Given the description of an element on the screen output the (x, y) to click on. 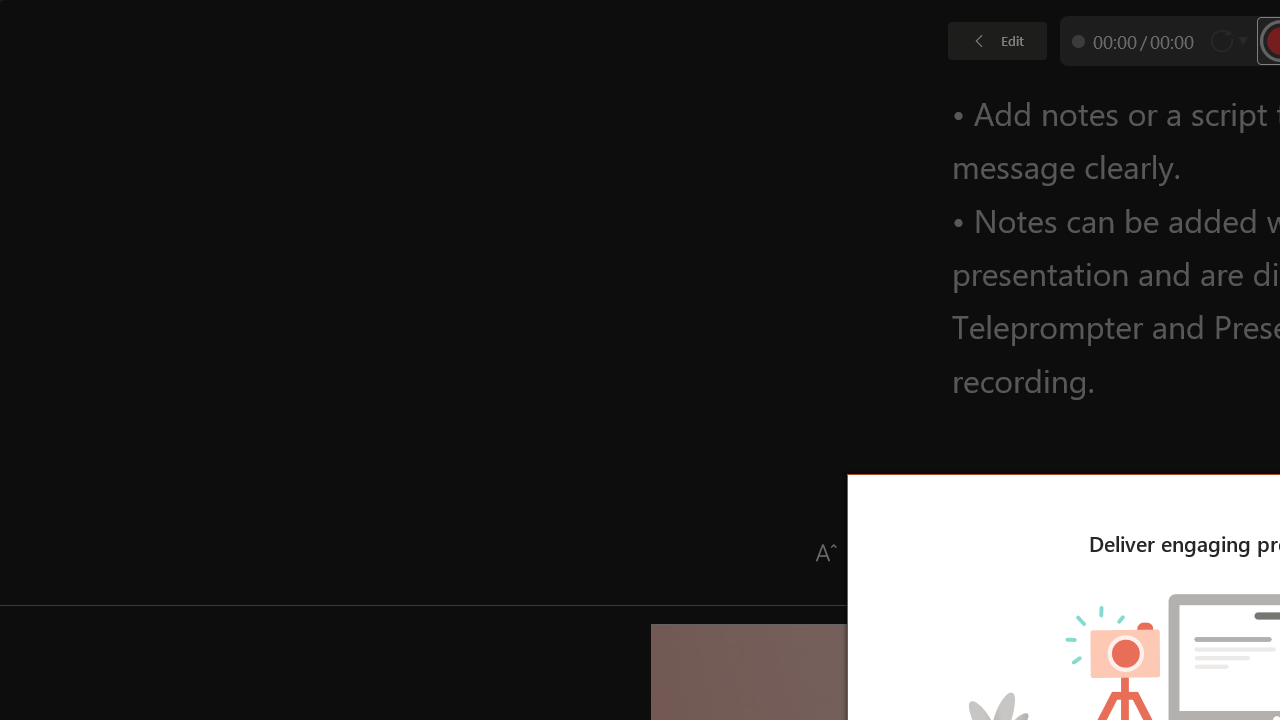
Banded (1080, 100)
